Given the description of an element on the screen output the (x, y) to click on. 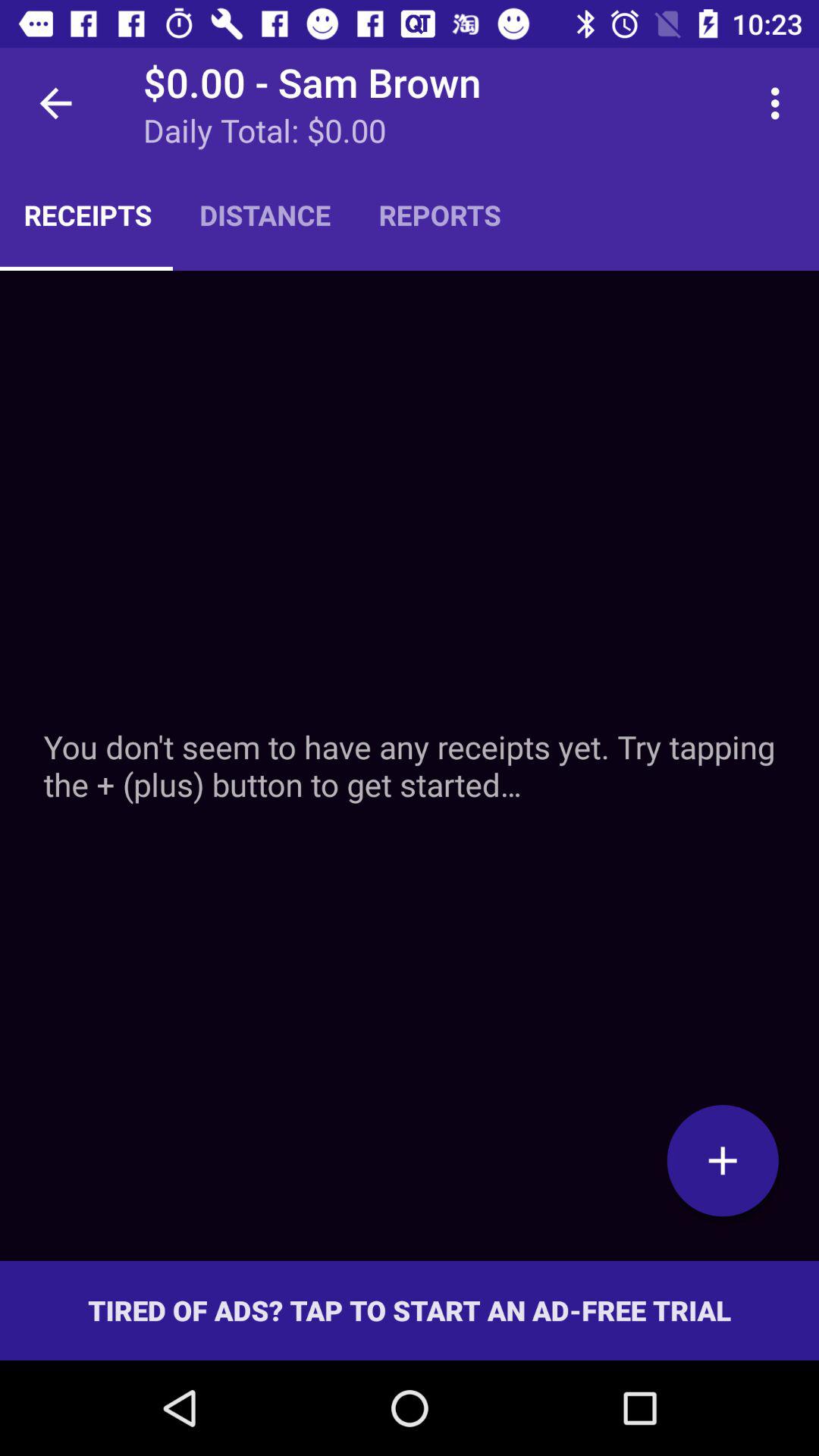
launch the distance item (264, 214)
